Given the description of an element on the screen output the (x, y) to click on. 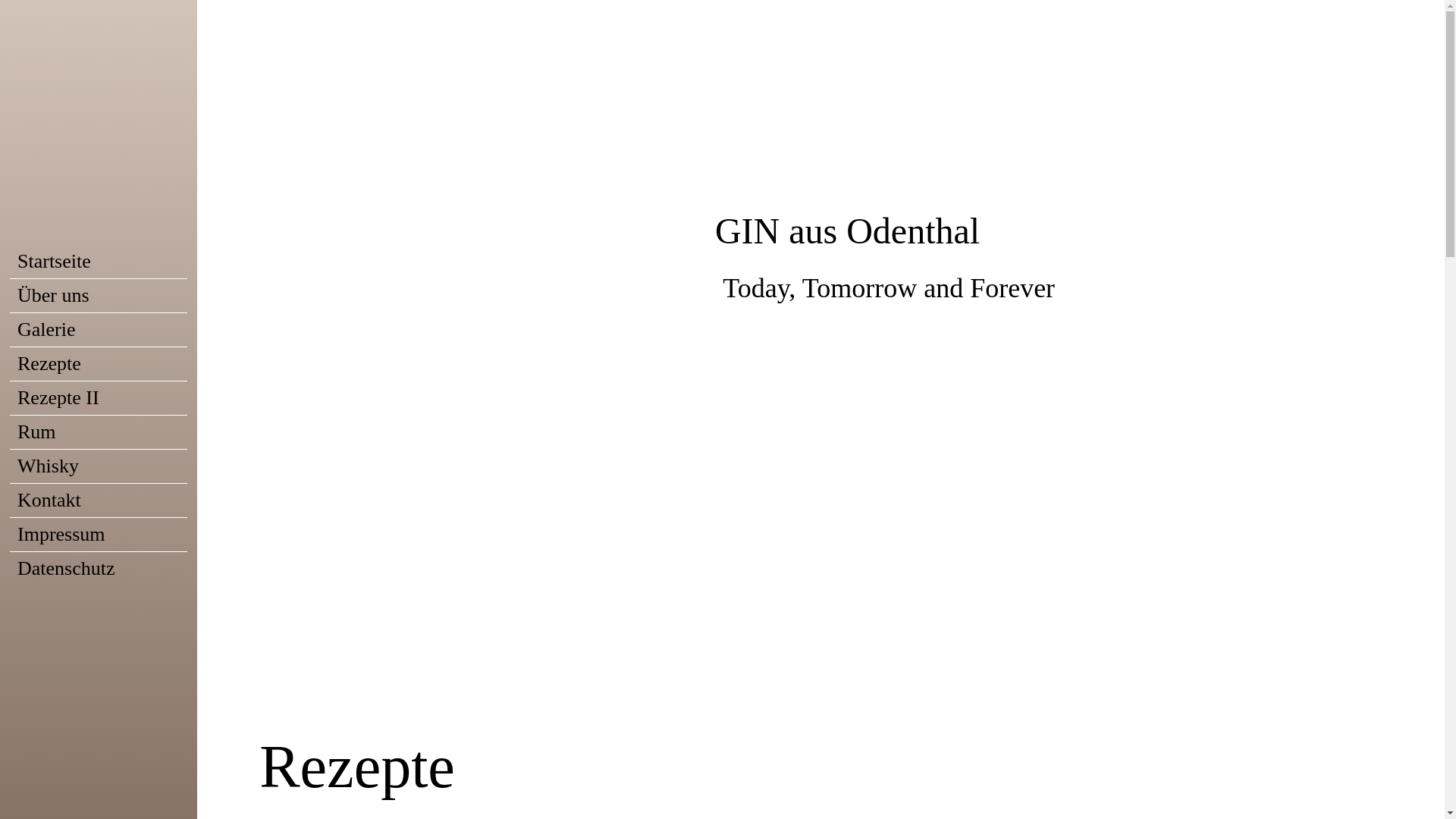
Rezepte II Element type: text (98, 397)
Datenschutz Element type: text (98, 568)
Rezepte Element type: text (98, 363)
Impressum Element type: text (98, 533)
Galerie Element type: text (98, 328)
Kontakt Element type: text (98, 500)
Whisky Element type: text (98, 465)
Rum Element type: text (98, 431)
Startseite Element type: text (98, 260)
